Given the description of an element on the screen output the (x, y) to click on. 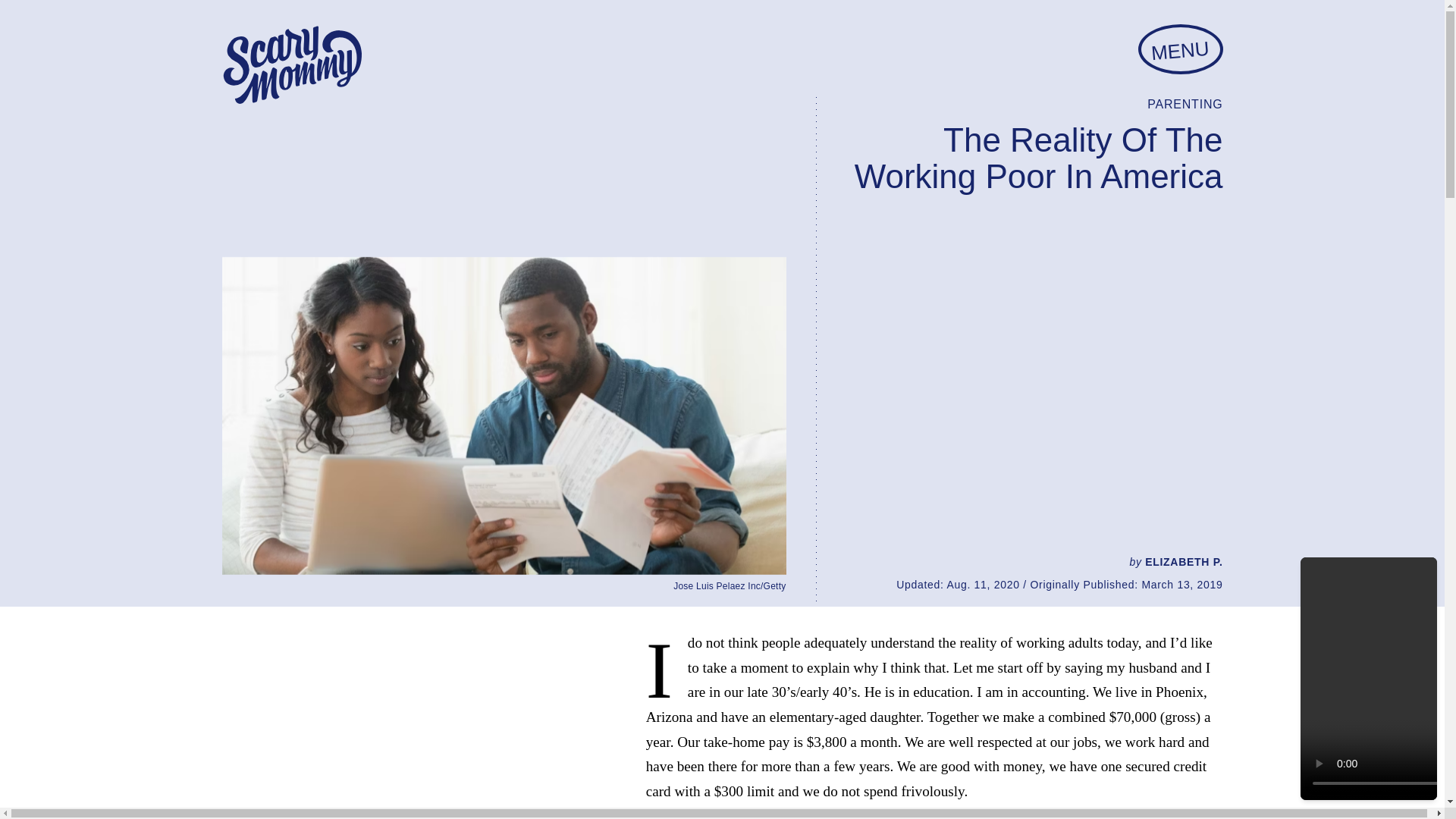
Scary Mommy (291, 64)
